Given the description of an element on the screen output the (x, y) to click on. 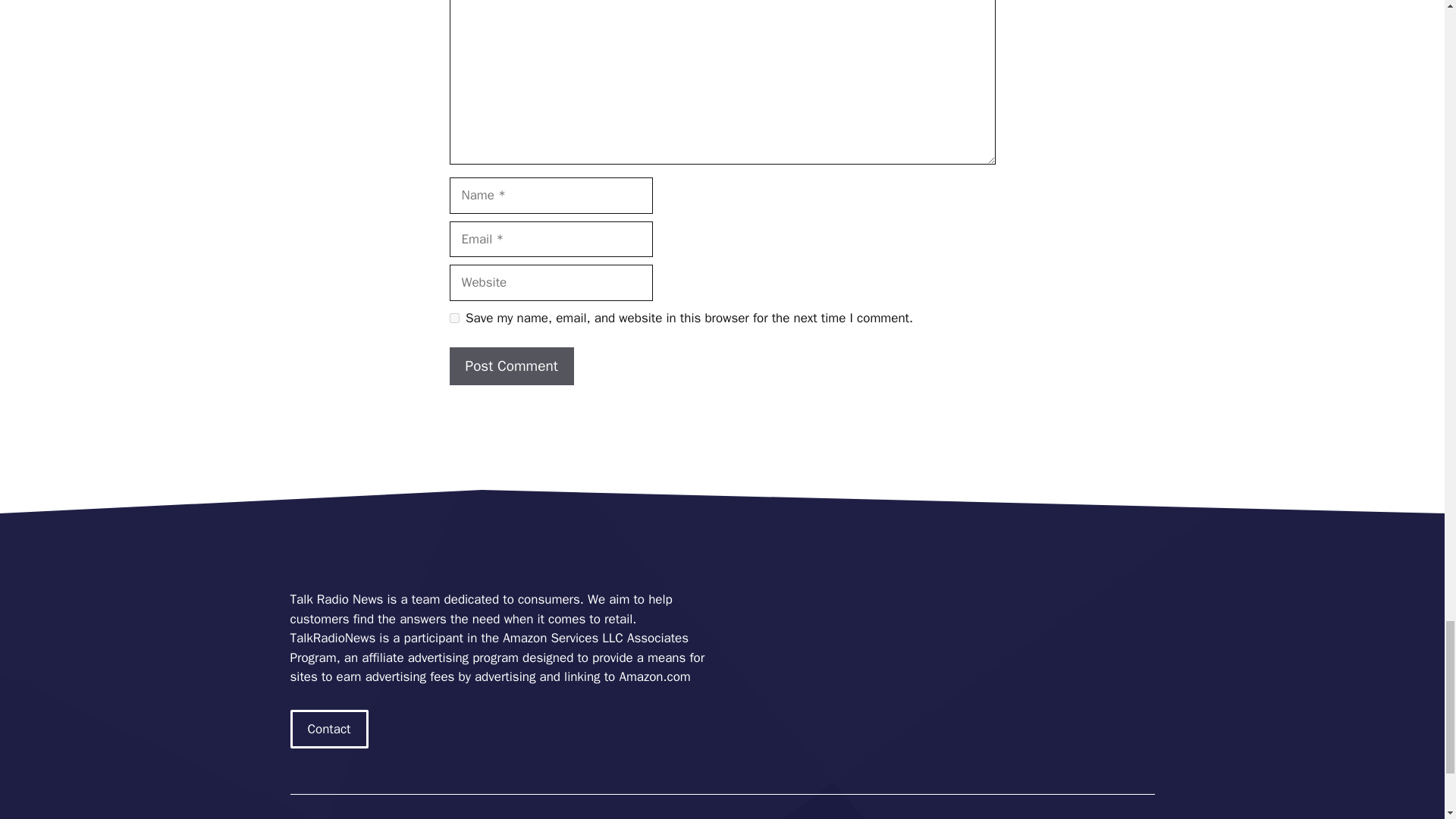
Contact (328, 729)
Post Comment (510, 366)
yes (453, 317)
Post Comment (510, 366)
